Given the description of an element on the screen output the (x, y) to click on. 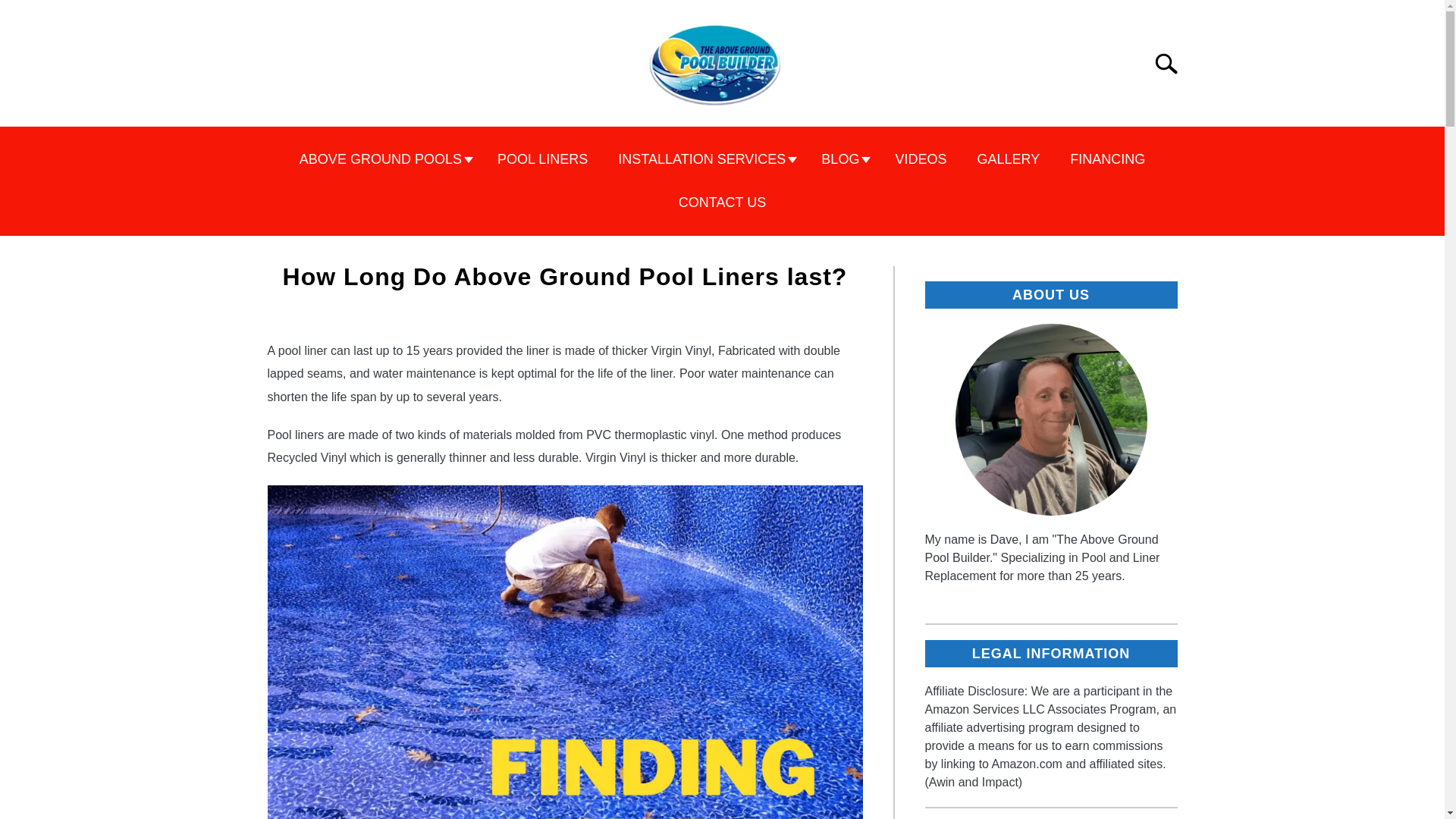
Search (1172, 63)
VIDEOS (919, 159)
GALLERY (1007, 159)
FINANCING (1107, 159)
BLOG (842, 159)
ABOVE GROUND POOLS (382, 159)
CONTACT US (721, 202)
INSTALLATION SERVICES (704, 159)
POOL LINERS (541, 159)
